Given the description of an element on the screen output the (x, y) to click on. 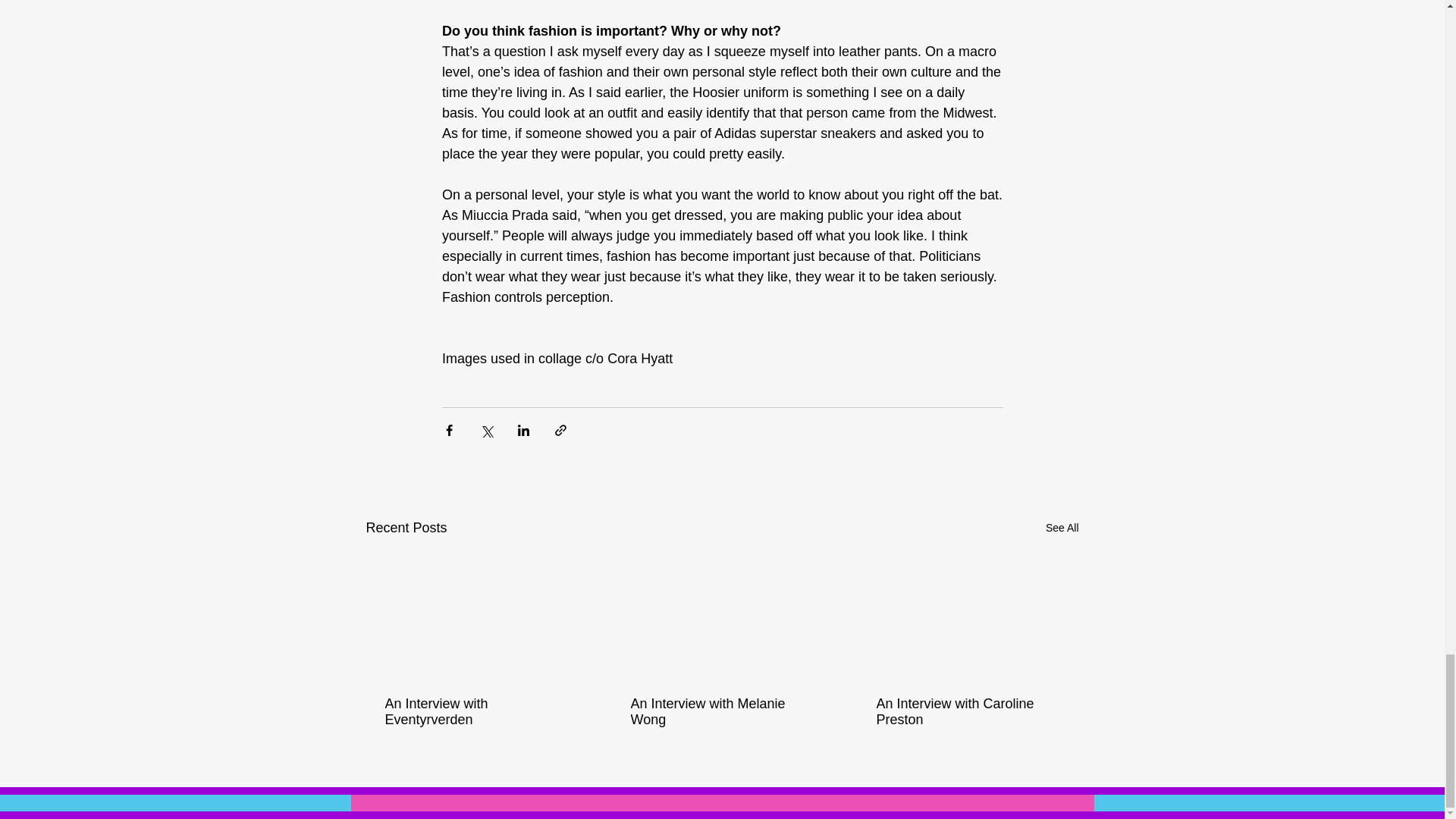
An Interview with Caroline Preston (967, 712)
See All (1061, 527)
An Interview with Melanie Wong (721, 712)
An Interview with Eventyrverden (476, 712)
